Given the description of an element on the screen output the (x, y) to click on. 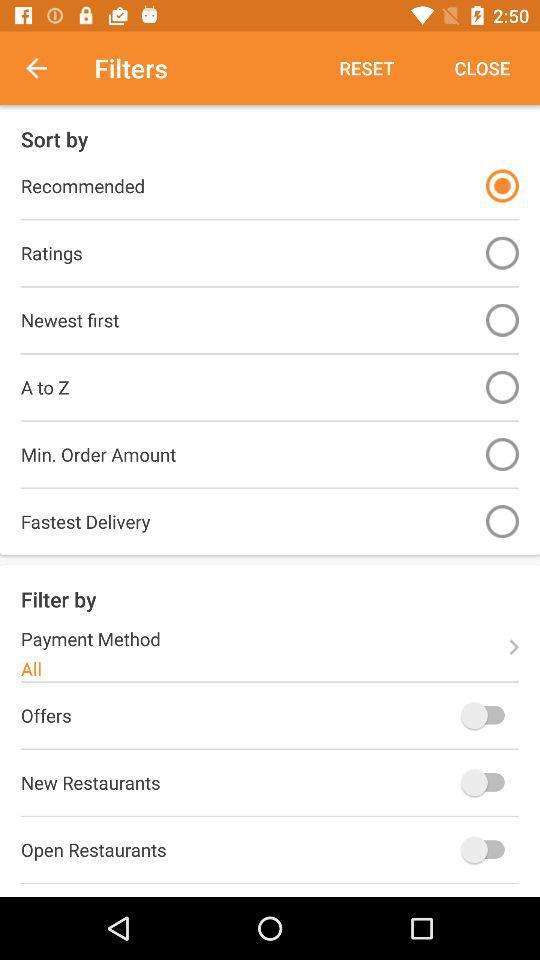
select option (502, 252)
